Given the description of an element on the screen output the (x, y) to click on. 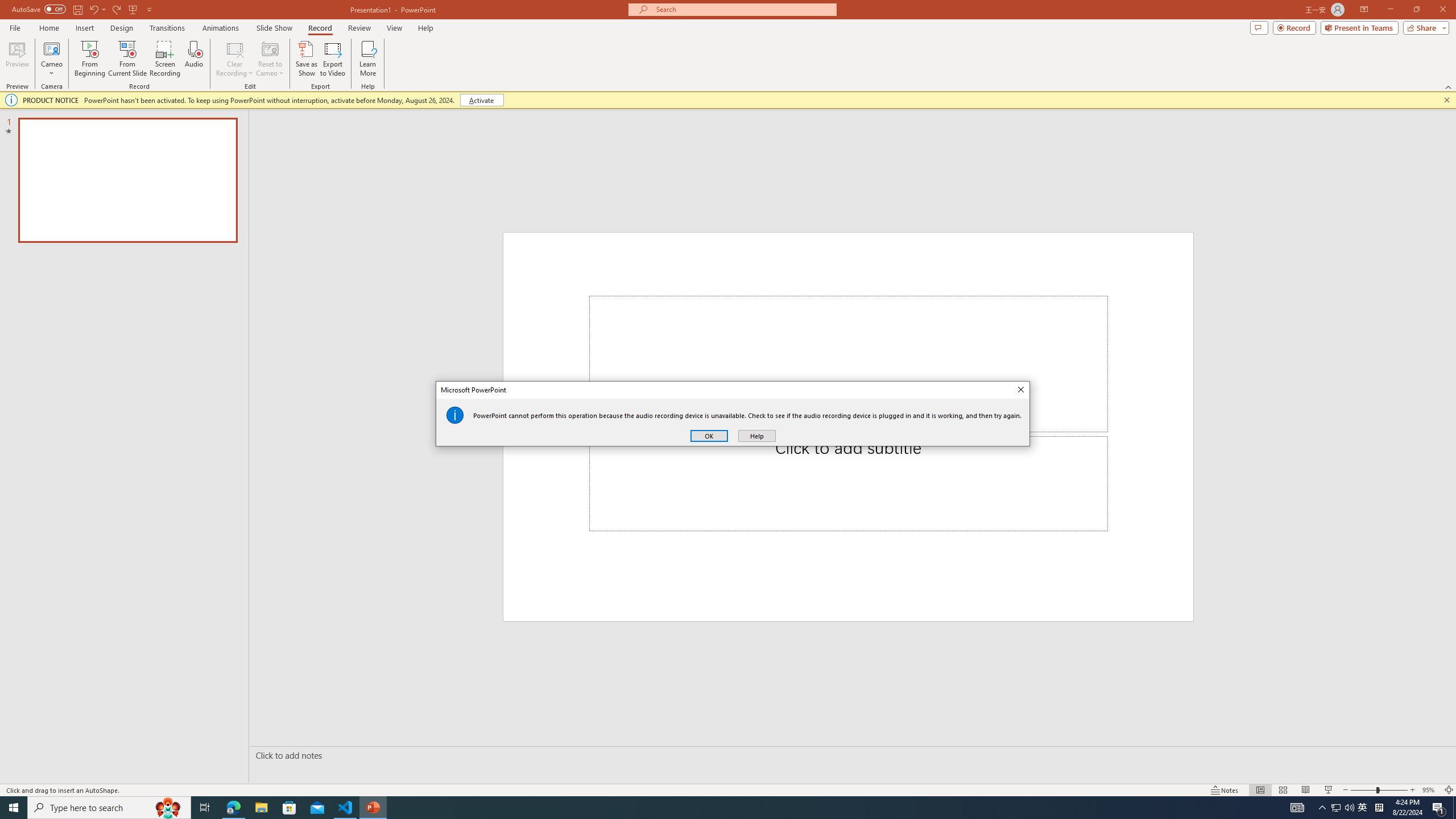
Close this message (1446, 99)
